Given the description of an element on the screen output the (x, y) to click on. 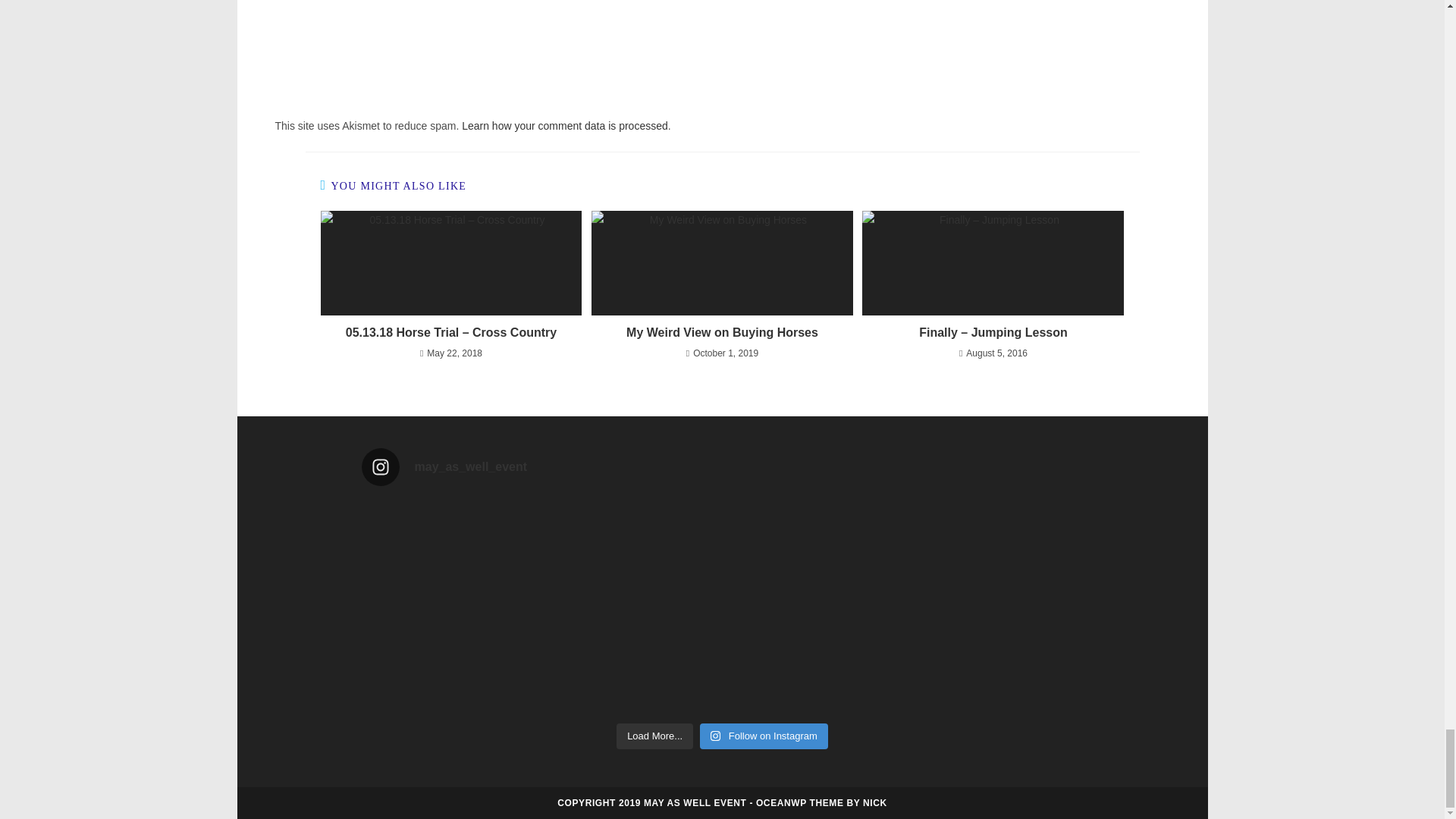
Comment Form (722, 47)
